Given the description of an element on the screen output the (x, y) to click on. 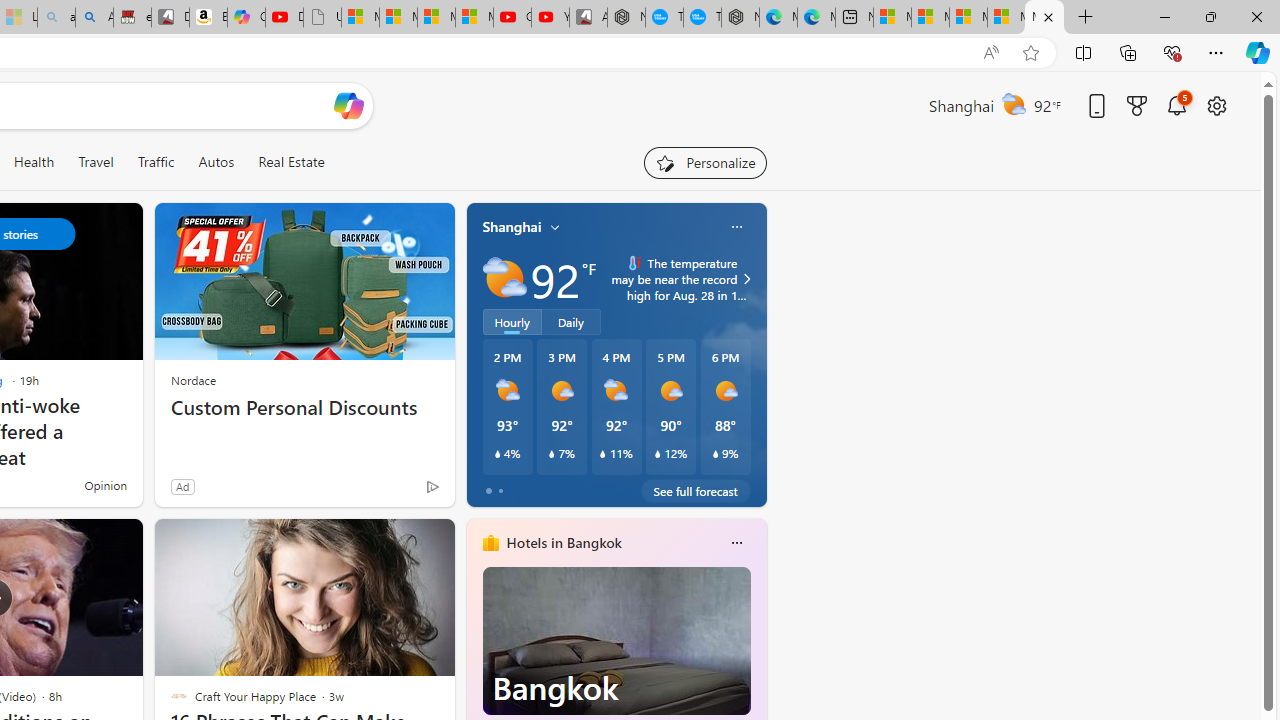
Custom Personal Discounts (304, 407)
Hide this story (393, 542)
Nordace - My Account (626, 17)
